Given the description of an element on the screen output the (x, y) to click on. 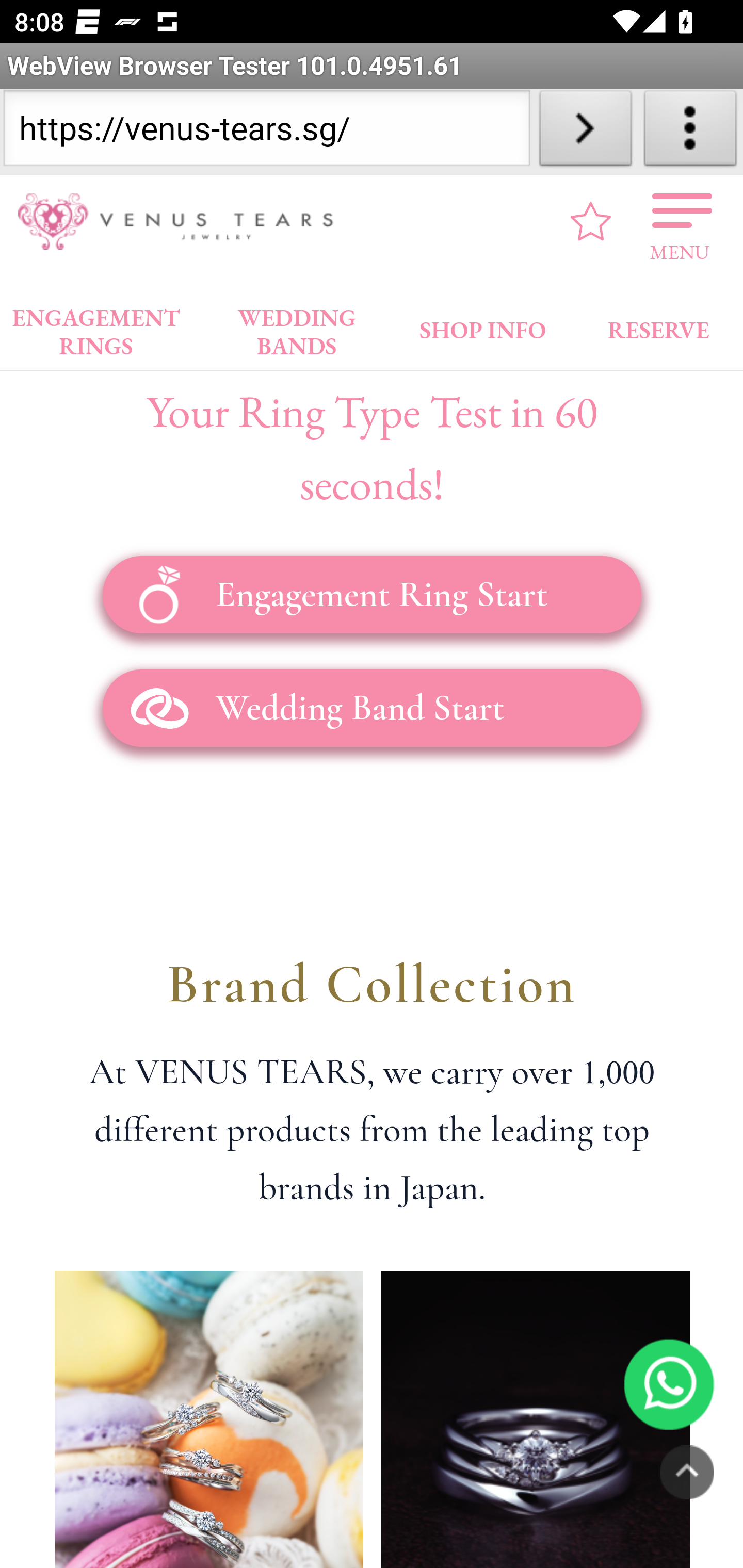
https://venus-tears.sg/ (266, 132)
Load URL (585, 132)
About WebView (690, 132)
favourite (591, 222)
MENU (680, 221)
VENUS TEARS (181, 221)
ENGAGEMENT RINGS ENGAGEMENT RINGS (96, 327)
WEDDING BANDS WEDDING BANDS (296, 327)
SHOP INFO (482, 325)
RESERVE (657, 325)
Coffret Couleur Coffret Couleur Coffret Couleur (208, 1419)
COLANY COLANY COLANY (535, 1419)
6585184875 (668, 1385)
PAGETOP (686, 1472)
